Given the description of an element on the screen output the (x, y) to click on. 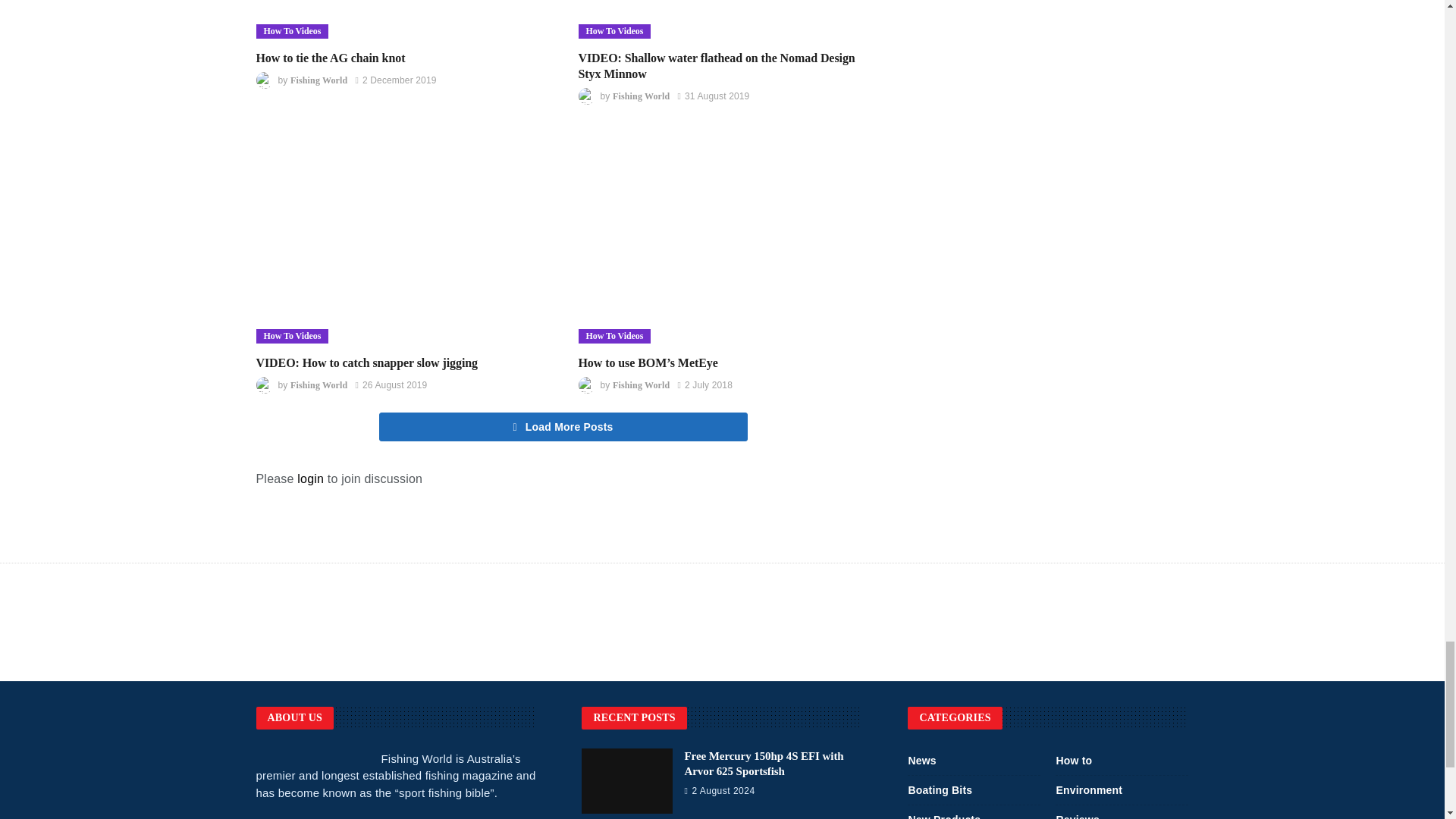
Load More Posts (563, 426)
How to tie the AG chain knot (402, 19)
VIDEO: How to catch snapper slow jigging (367, 362)
VIDEO: How to catch snapper slow jigging (402, 239)
Free Mercury 150hp 4S EFI with Arvor 625 Sportsfish (626, 781)
Free Mercury 150hp 4S EFI with Arvor 625 Sportsfish (763, 763)
How to tie the AG chain knot (331, 57)
